Given the description of an element on the screen output the (x, y) to click on. 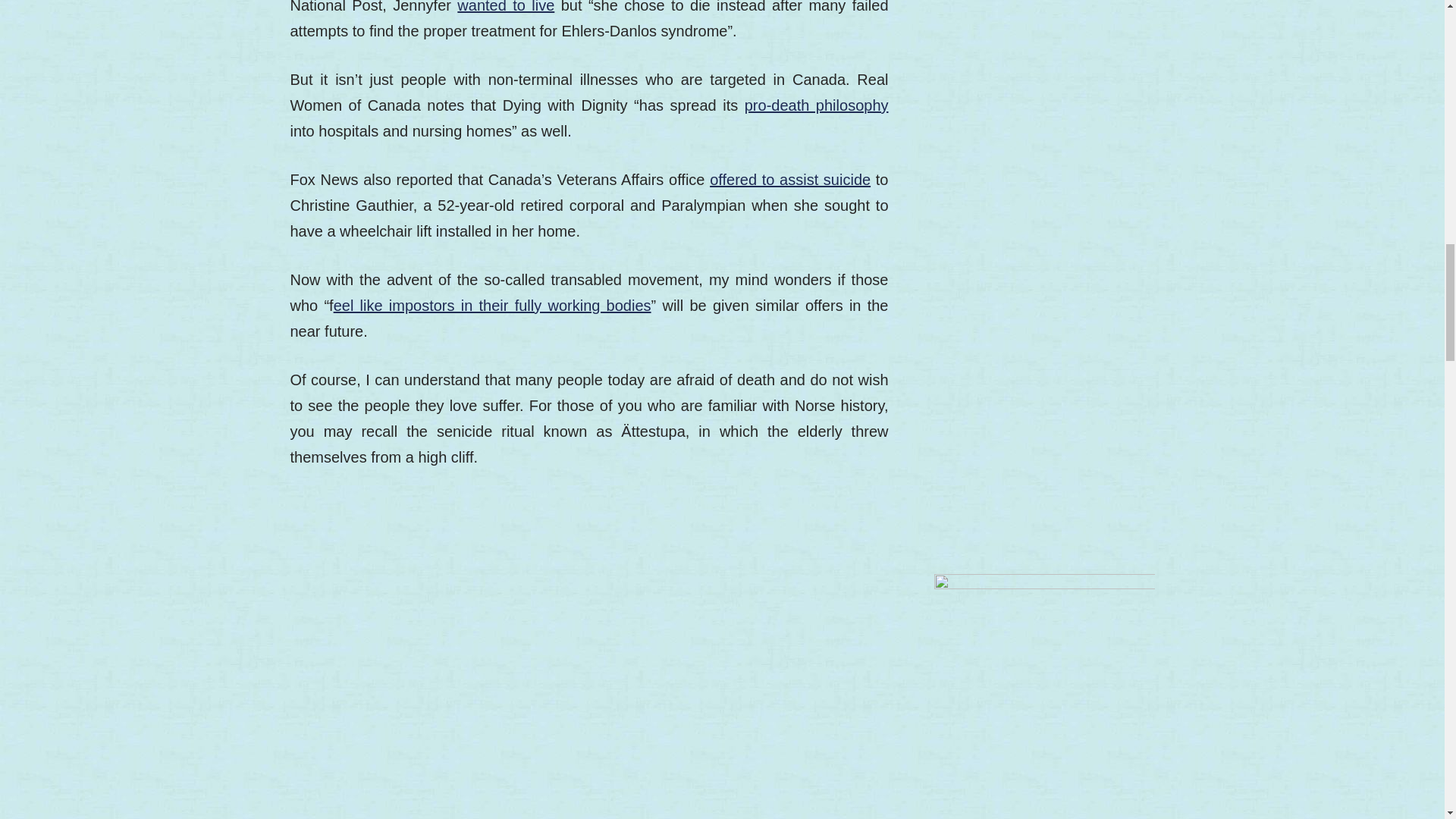
eel like impostors in their fully working bodies (491, 305)
wanted to live (505, 6)
offered to assist suicide (790, 179)
pro-death philosophy (816, 105)
